Given the description of an element on the screen output the (x, y) to click on. 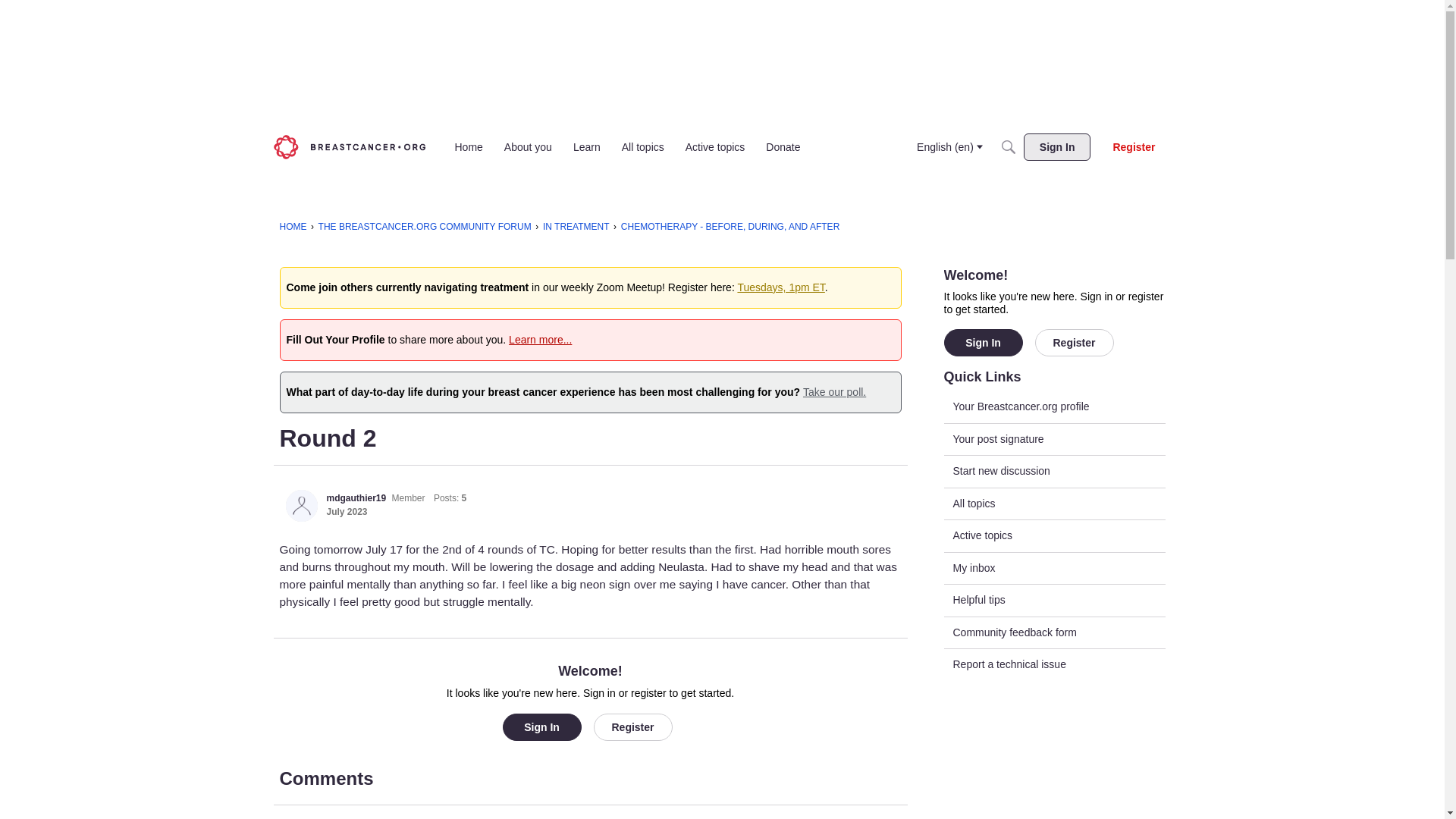
July 16, 2023 2:45PM (346, 511)
Learn (587, 146)
THE BREASTCANCER.ORG COMMUNITY FORUM (424, 226)
About you (527, 146)
IN TREATMENT (576, 226)
Donate (783, 146)
Register (1073, 342)
mdgauthier19 (355, 498)
Register (631, 727)
Register (1133, 146)
